Given the description of an element on the screen output the (x, y) to click on. 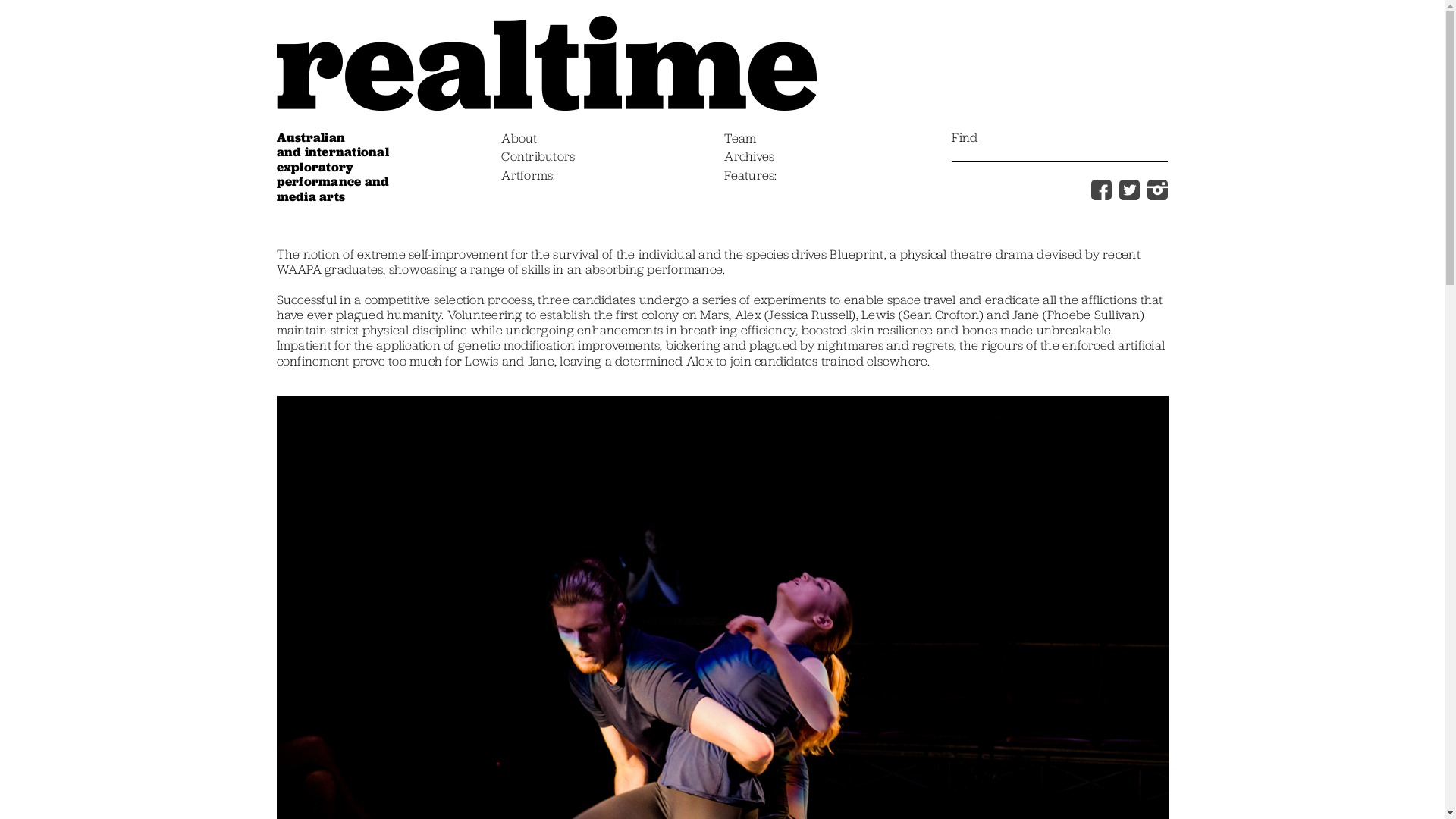
About Element type: text (518, 139)
Contributors Element type: text (537, 157)
Artforms Element type: text (528, 176)
Archives Element type: text (749, 157)
Features Element type: text (750, 176)
Team Element type: text (740, 139)
